Given the description of an element on the screen output the (x, y) to click on. 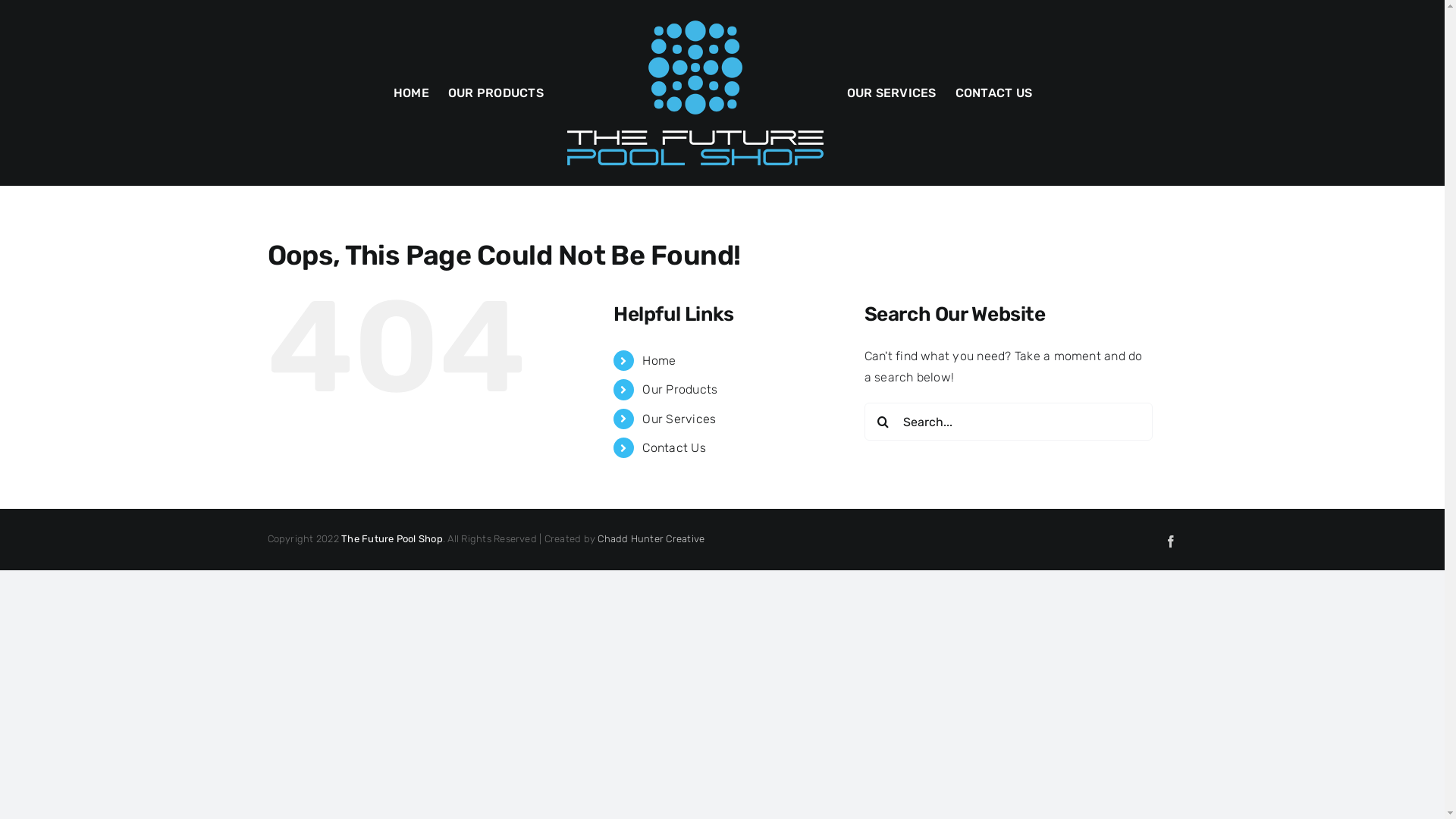
HOME Element type: text (411, 92)
Facebook Element type: text (1170, 541)
Our Services Element type: text (678, 418)
Contact Us Element type: text (673, 447)
OUR PRODUCTS Element type: text (495, 92)
Home Element type: text (658, 360)
Chadd Hunter Creative Element type: text (650, 538)
Our Products Element type: text (679, 389)
CONTACT US Element type: text (993, 92)
OUR SERVICES Element type: text (891, 92)
